Given the description of an element on the screen output the (x, y) to click on. 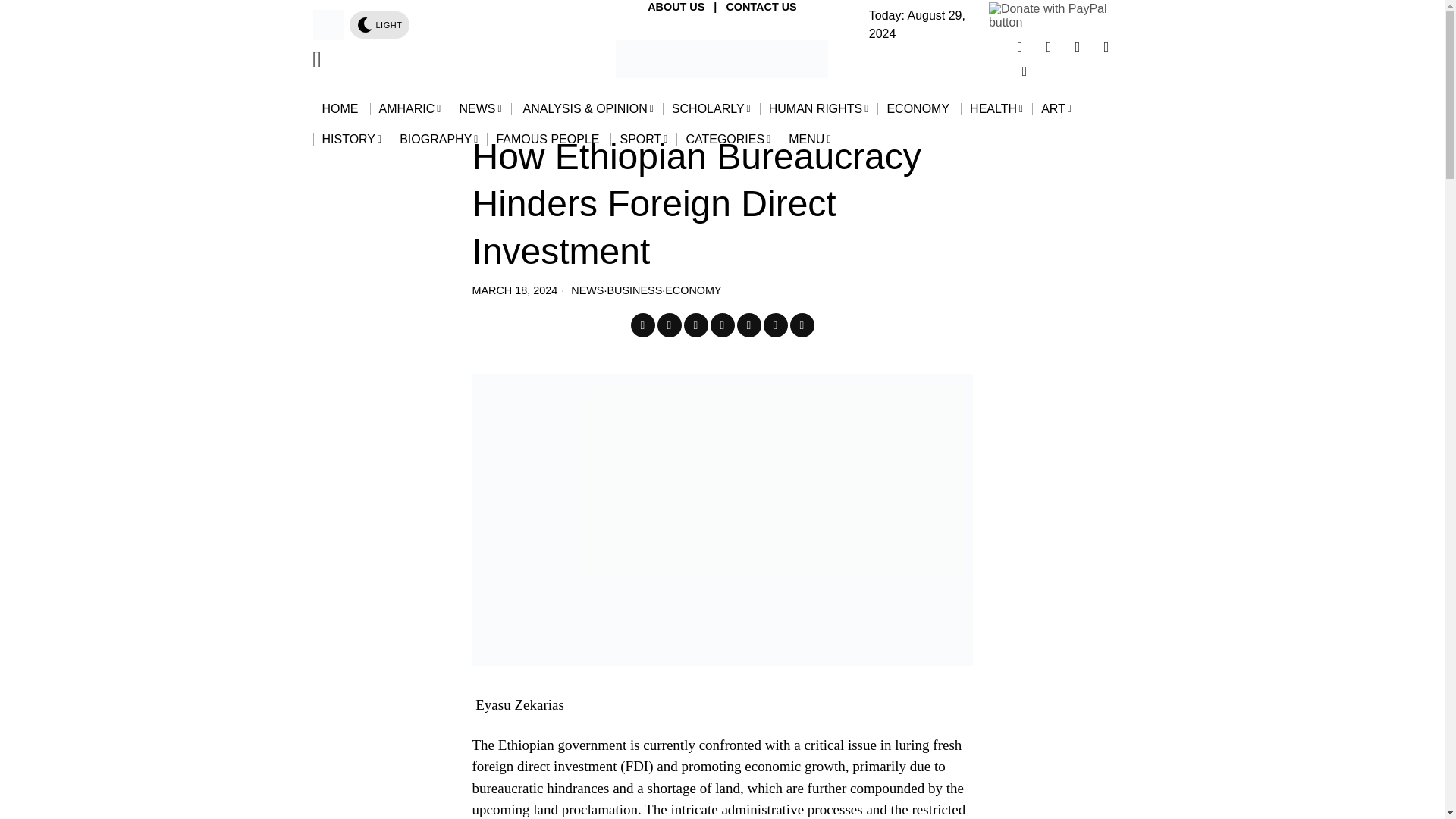
CONTACT (751, 6)
NEWS (480, 109)
PayPal - The safer, easier way to pay online! (1060, 15)
US (787, 6)
HOME (341, 109)
Scholarly Articles (711, 109)
SCHOLARLY (711, 109)
AMHARIC (409, 109)
18 Mar, 2024 09:33:01 (514, 290)
HUMAN RIGHTS (818, 109)
